Given the description of an element on the screen output the (x, y) to click on. 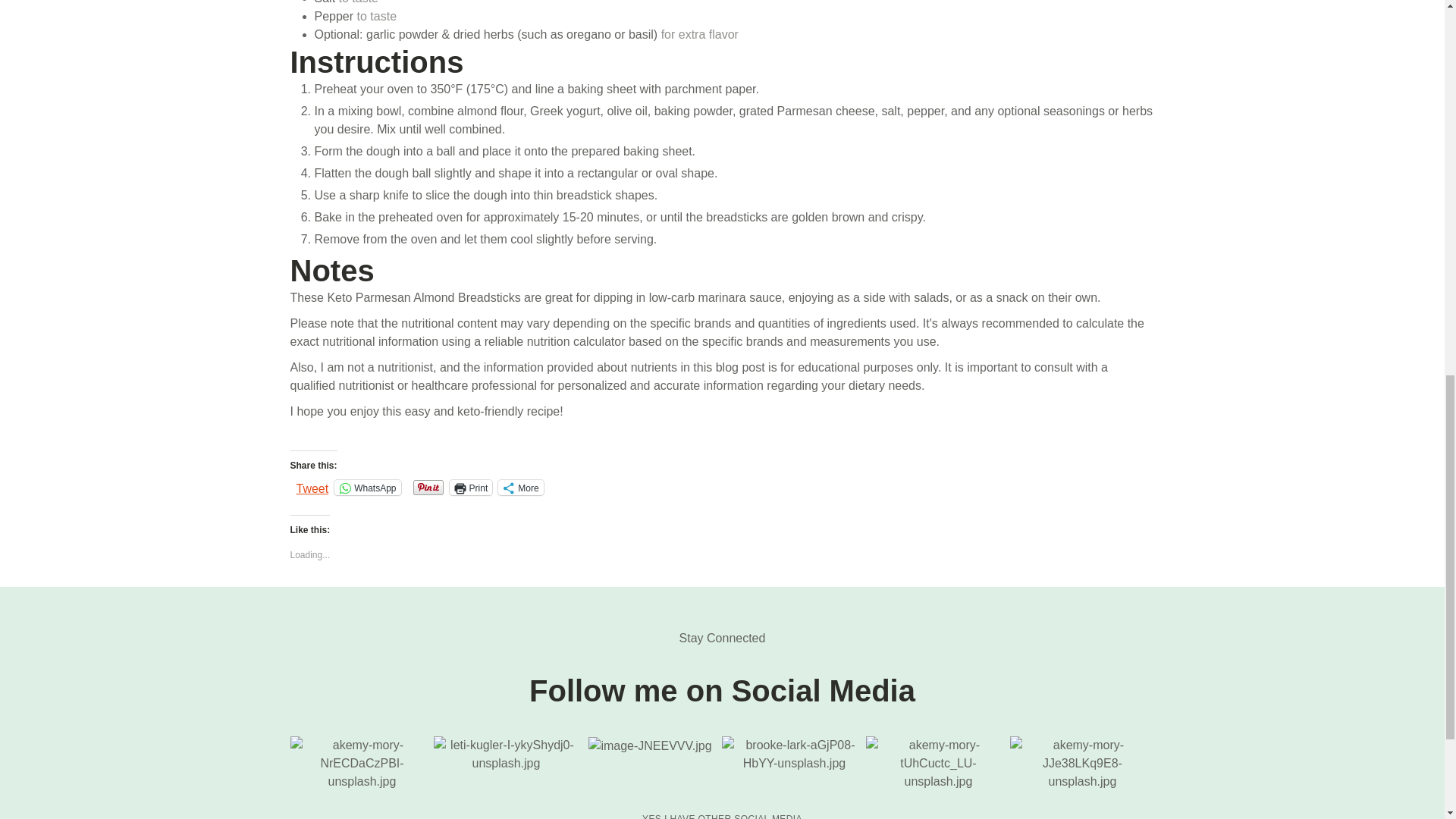
More (520, 487)
image-JNEEVVV.jpg (649, 746)
Tweet (312, 486)
leti-kugler-I-ykyShydj0-unsplash.jpg (505, 754)
Print (471, 487)
Click to share on WhatsApp (367, 487)
akemy-mory-NrECDaCzPBI-unsplash.jpg (361, 763)
akemy-mory-JJe38LKq9E8-unsplash.jpg (1082, 763)
Click to print (471, 487)
WhatsApp (367, 487)
